Given the description of an element on the screen output the (x, y) to click on. 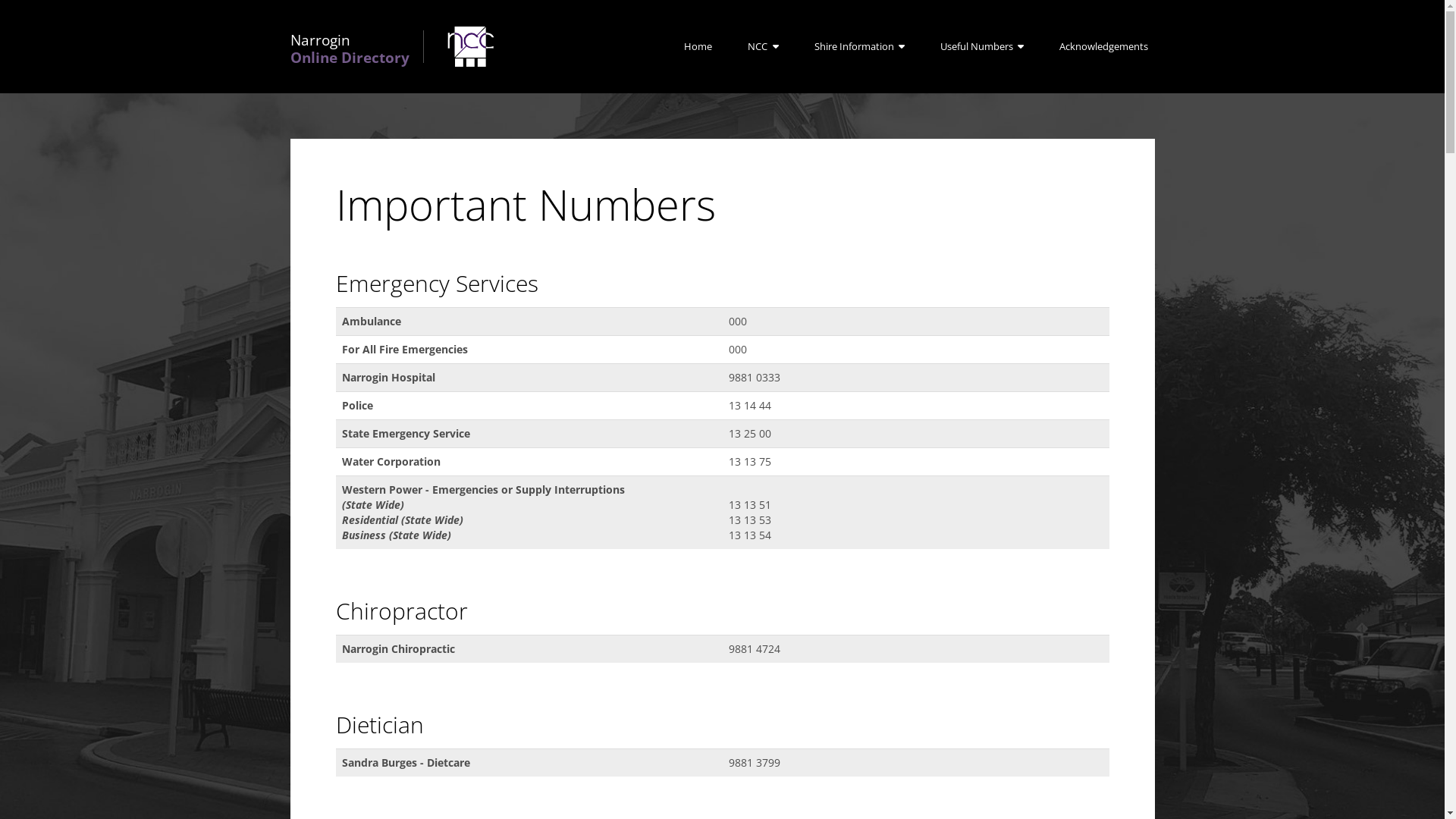
NCC Element type: text (763, 46)
Shire Information Element type: text (859, 46)
Useful Numbers Element type: text (981, 46)
Acknowledgements Element type: text (1103, 46)
Visit the NCC website Element type: hover (469, 46)
Home Element type: text (698, 46)
